Given the description of an element on the screen output the (x, y) to click on. 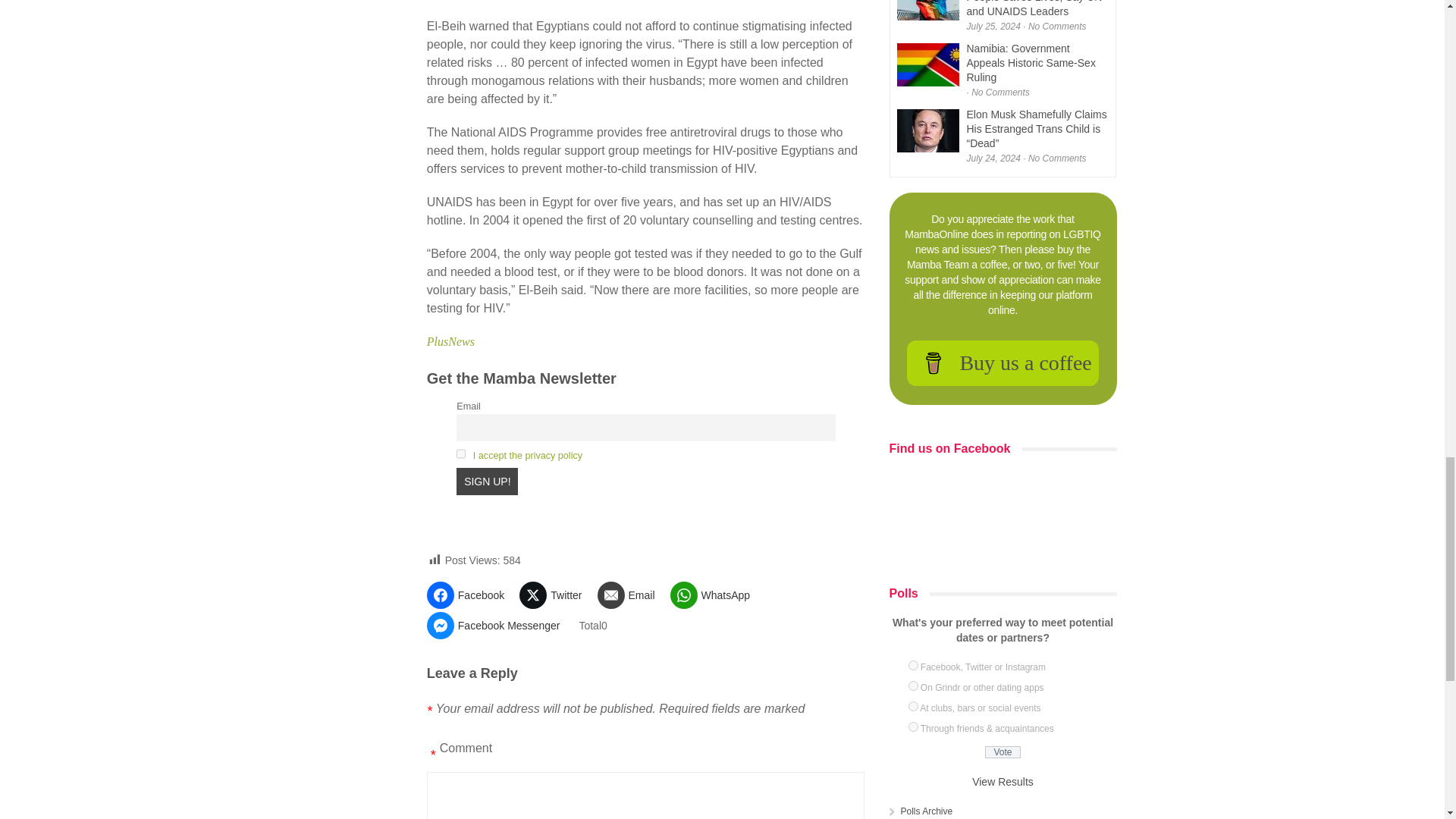
View Results Of This Poll (1002, 781)
Twitter (555, 595)
Share on Facebook Messenger (499, 625)
SIGN UP! (487, 481)
Total (592, 625)
SIGN UP! (487, 481)
Share on WhatsApp (715, 595)
Email (631, 595)
PlusNews (450, 341)
Facebook Messenger (499, 625)
   Vote    (1002, 752)
Share on Twitter (555, 595)
227 (913, 685)
226 (913, 665)
on (461, 453)
